Given the description of an element on the screen output the (x, y) to click on. 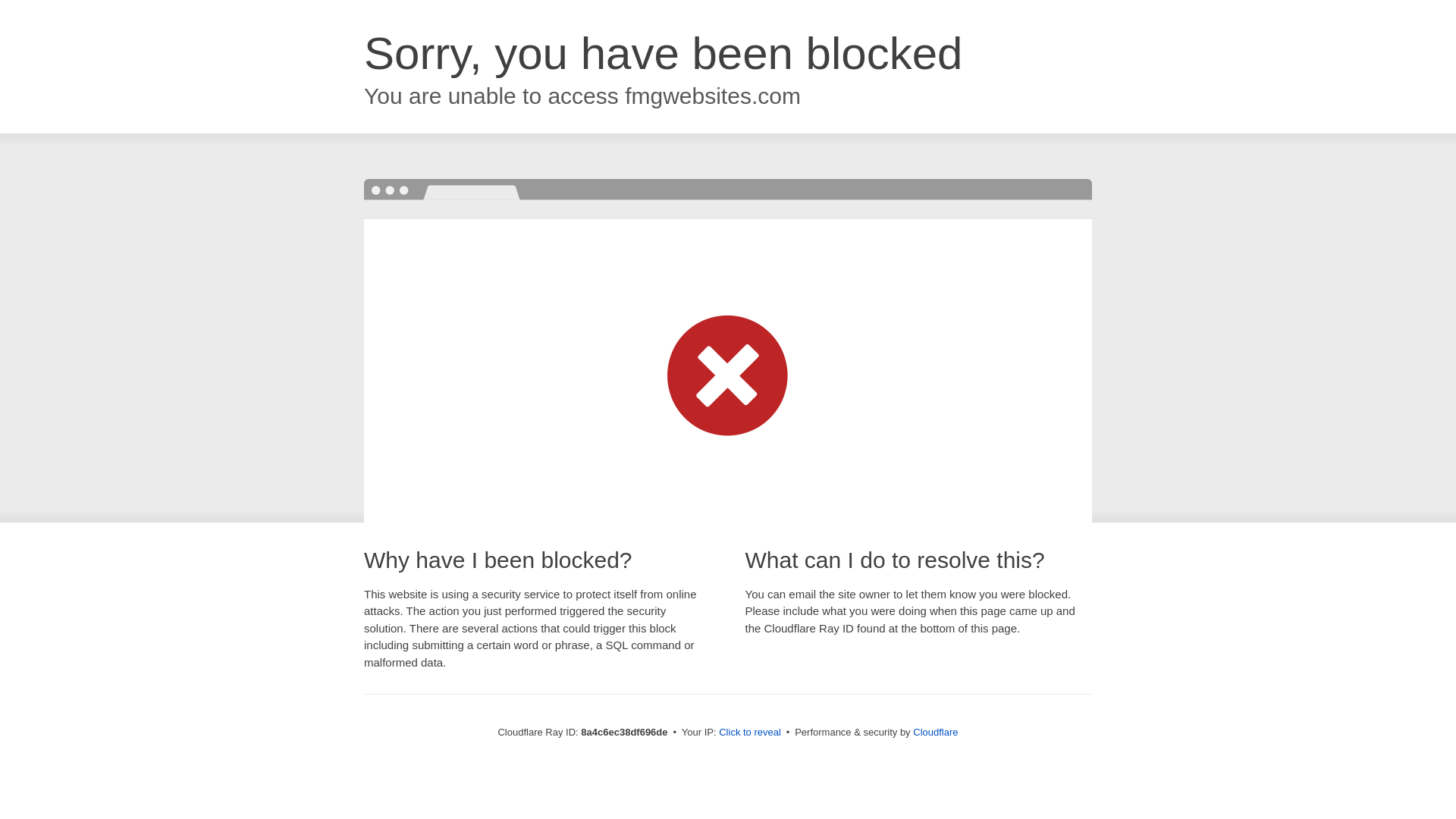
Cloudflare (935, 731)
Click to reveal (749, 732)
